Given the description of an element on the screen output the (x, y) to click on. 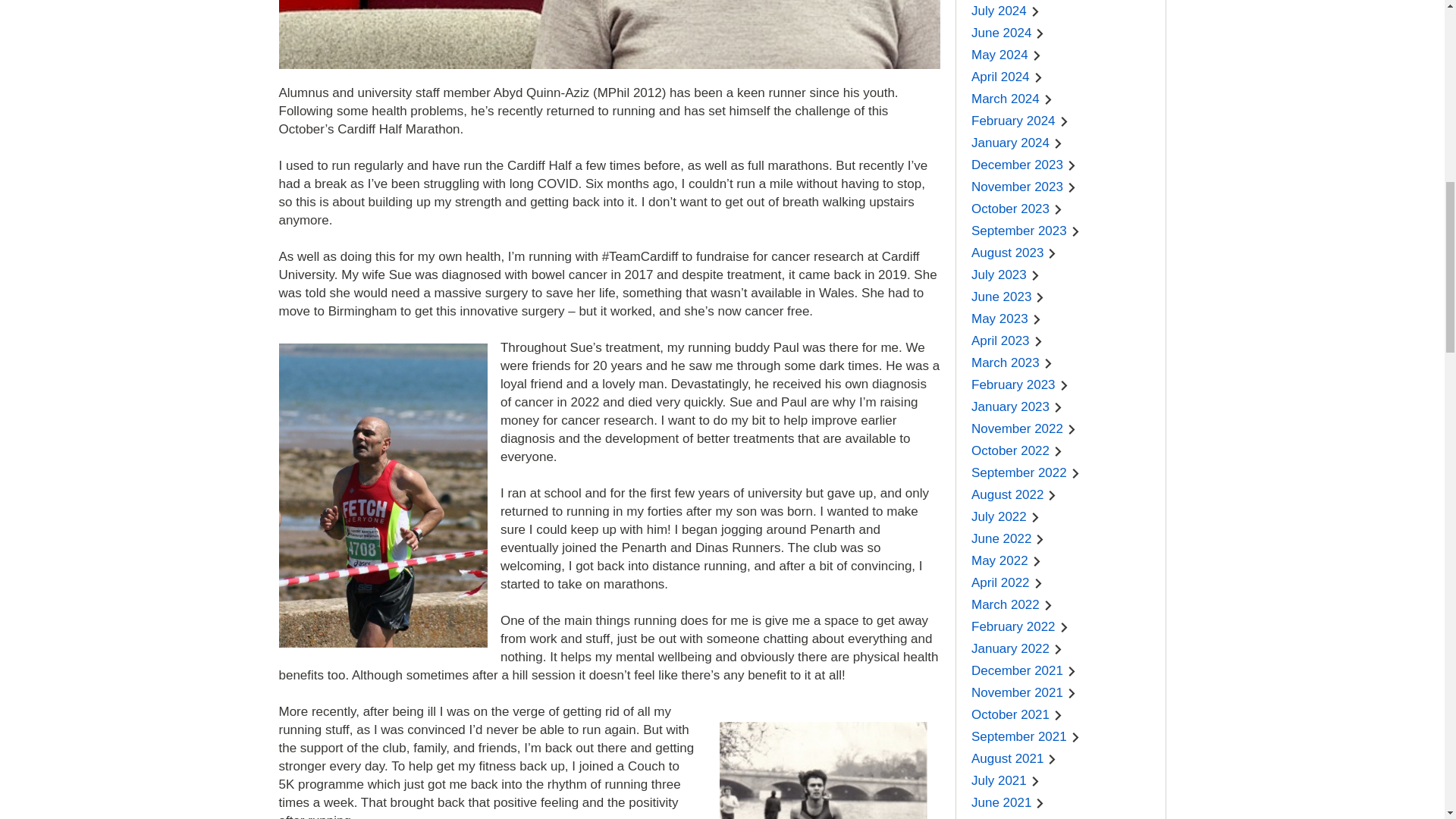
Chevron right (1037, 55)
Chevron right (1035, 11)
Chevron right (1038, 77)
Chevron right (1040, 33)
